Given the description of an element on the screen output the (x, y) to click on. 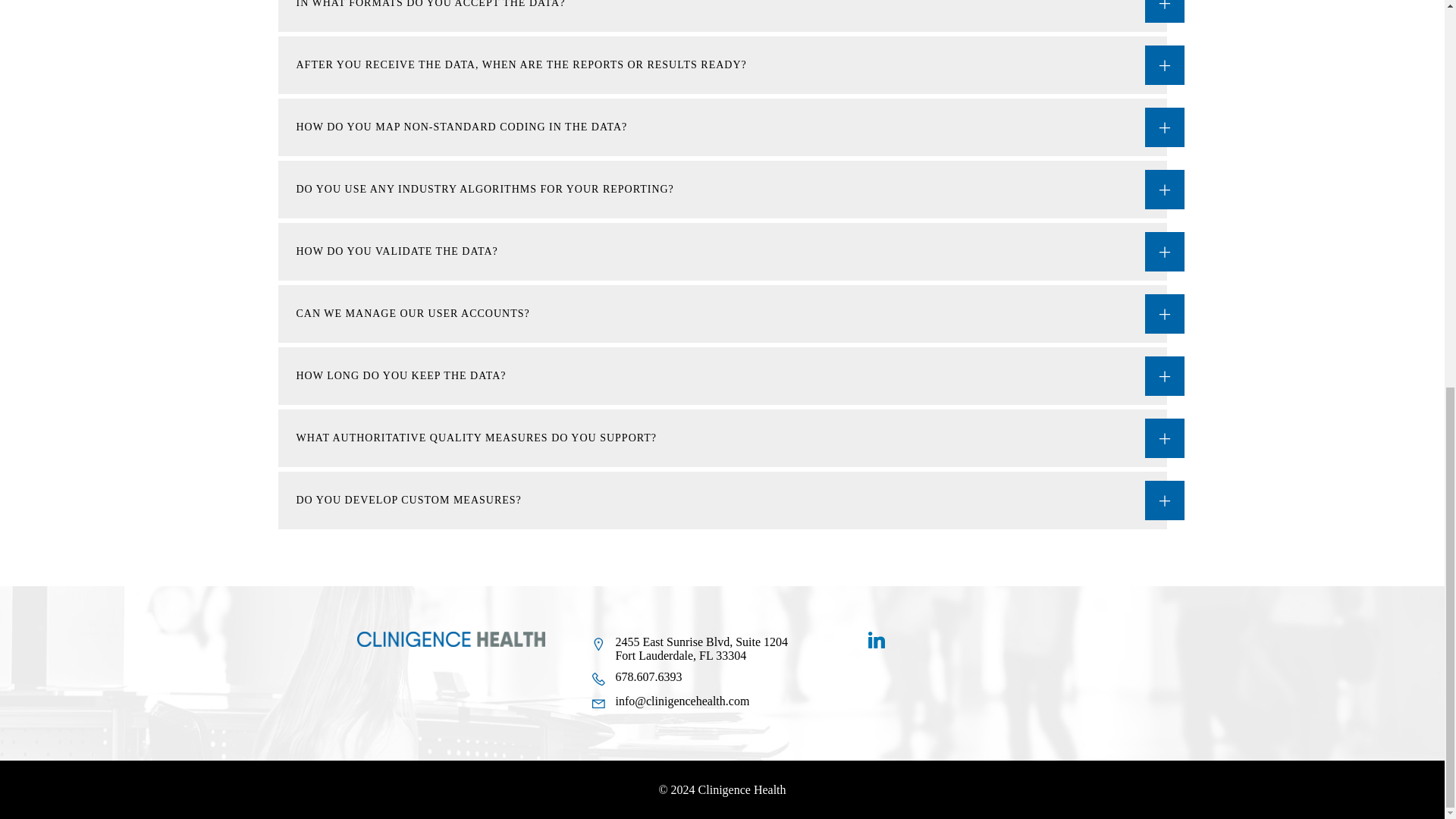
IN WHAT FORMATS DO YOU ACCEPT THE DATA? (722, 15)
CAN WE MANAGE OUR USER ACCOUNTS? (722, 314)
DO YOU DEVELOP CUSTOM MEASURES? (722, 500)
HOW LONG DO YOU KEEP THE DATA? (722, 375)
WHAT AUTHORITATIVE QUALITY MEASURES DO YOU SUPPORT? (722, 437)
HOW DO YOU VALIDATE THE DATA? (722, 251)
DO YOU USE ANY INDUSTRY ALGORITHMS FOR YOUR REPORTING? (722, 189)
HOW DO YOU MAP NON-STANDARD CODING IN THE DATA? (722, 127)
678.607.6393 (689, 678)
